Given the description of an element on the screen output the (x, y) to click on. 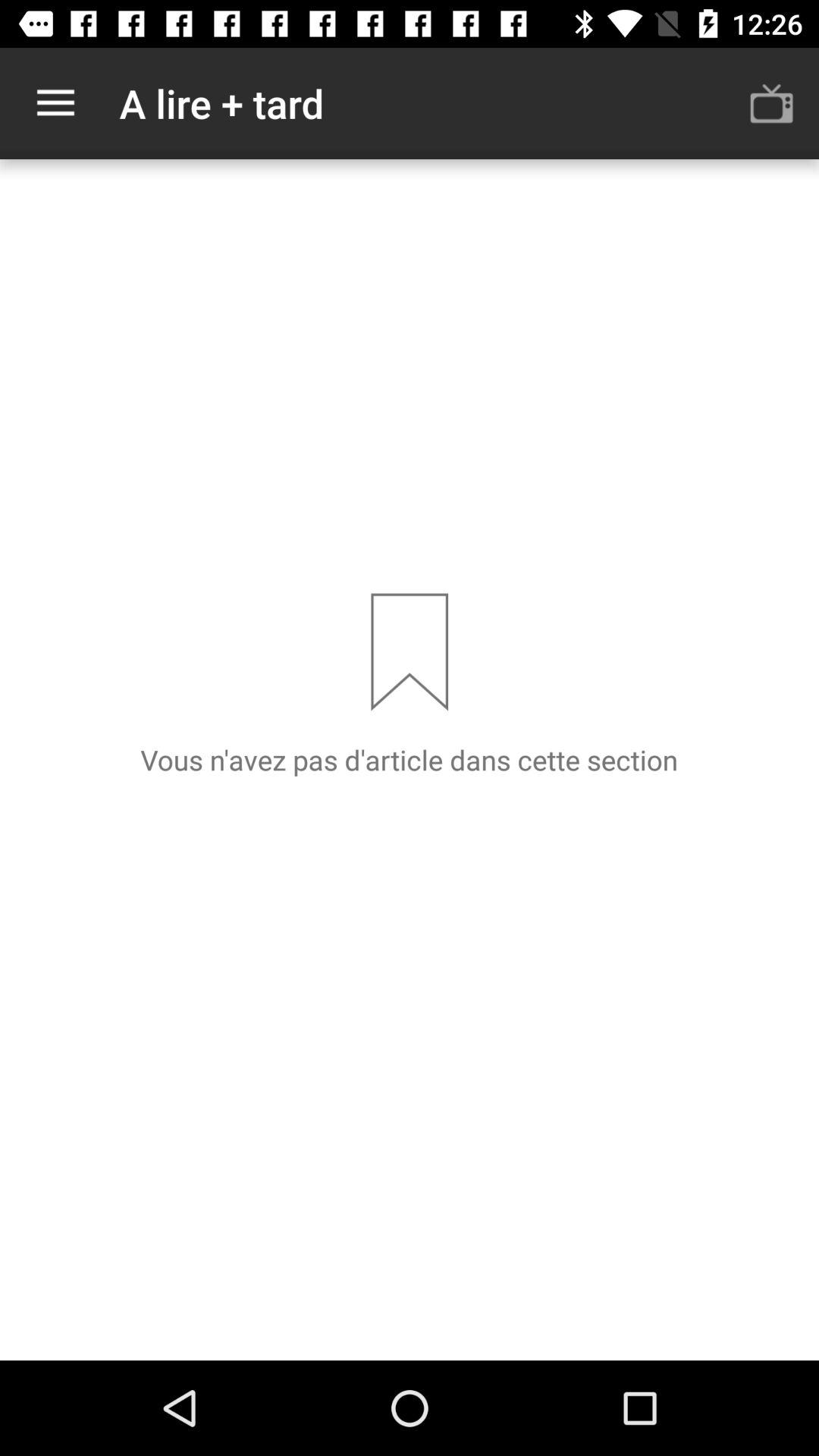
click the icon at the top right corner (771, 103)
